Given the description of an element on the screen output the (x, y) to click on. 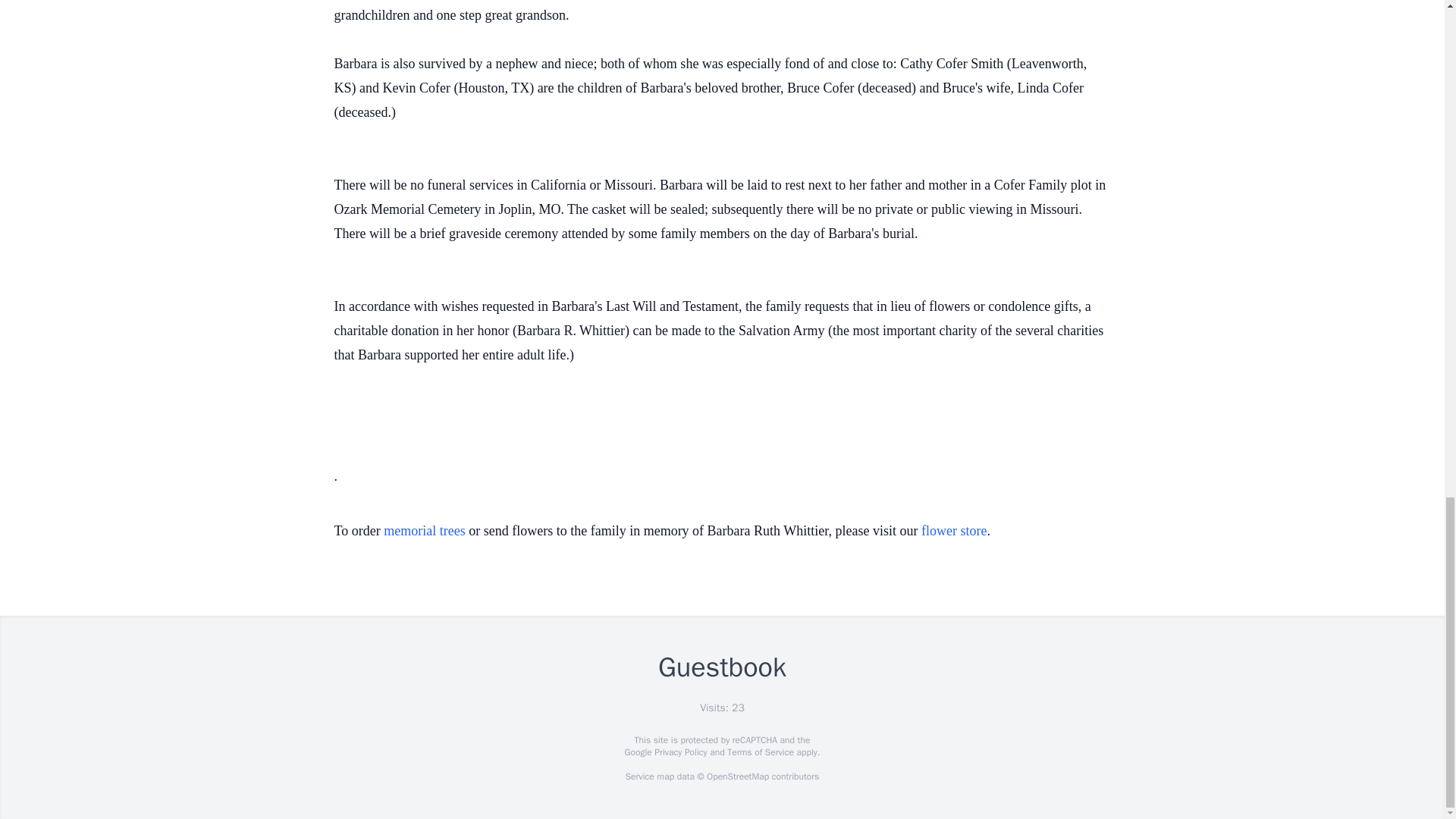
OpenStreetMap (737, 776)
Privacy Policy (679, 752)
Terms of Service (759, 752)
flower store (954, 530)
memorial trees (424, 530)
